Given the description of an element on the screen output the (x, y) to click on. 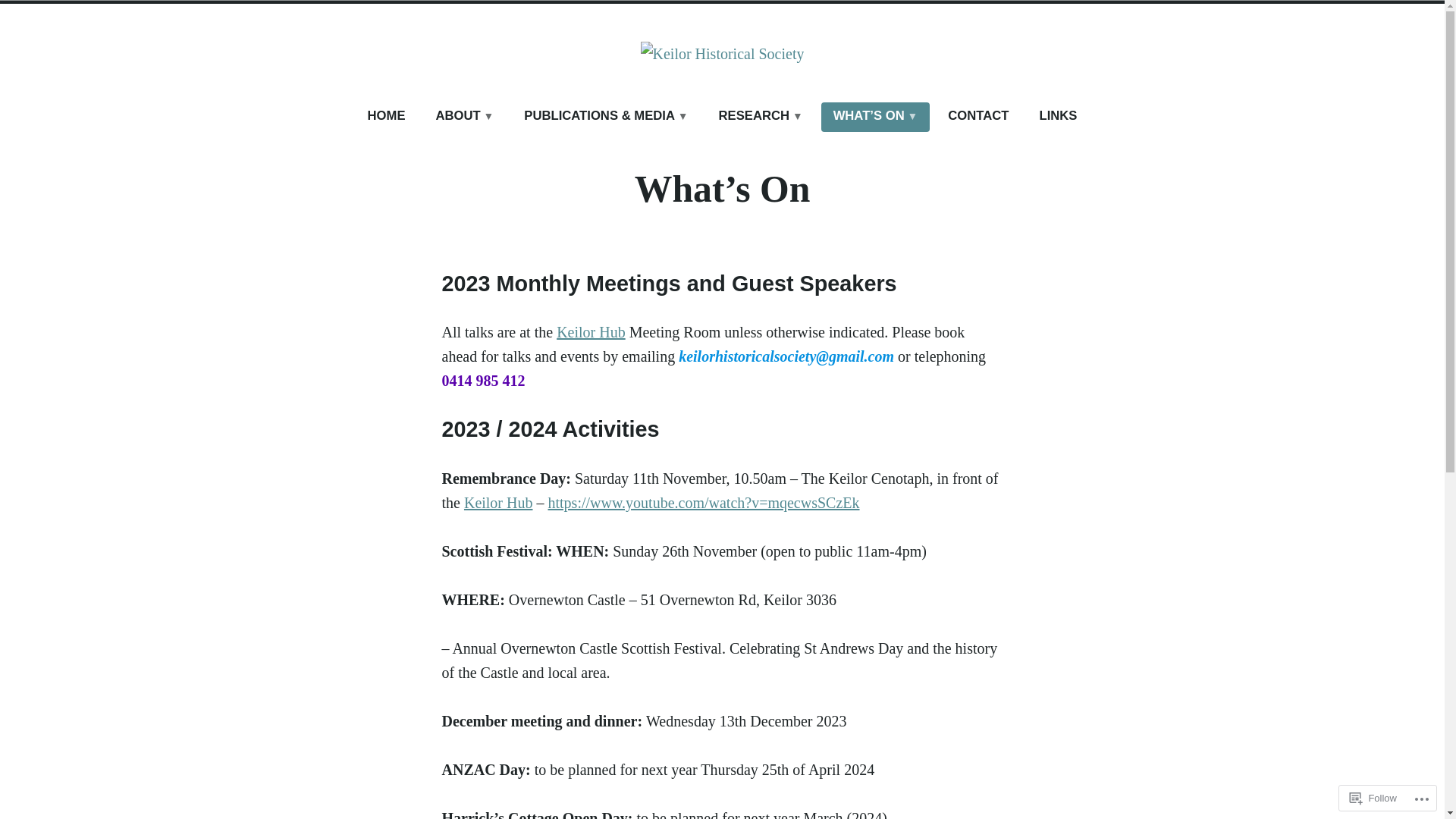
https://www.youtube.com/watch?v=mqecwsSCzEk Element type: text (703, 502)
Follow Element type: text (1372, 797)
PUBLICATIONS & MEDIA Element type: text (605, 116)
RESEARCH Element type: text (760, 116)
CONTACT Element type: text (977, 116)
HOME Element type: text (386, 116)
Keilor Historical Society Element type: text (289, 100)
Keilor Hub Element type: text (590, 331)
Keilor Hub Element type: text (498, 502)
ABOUT Element type: text (464, 116)
LINKS Element type: text (1057, 116)
